Given the description of an element on the screen output the (x, y) to click on. 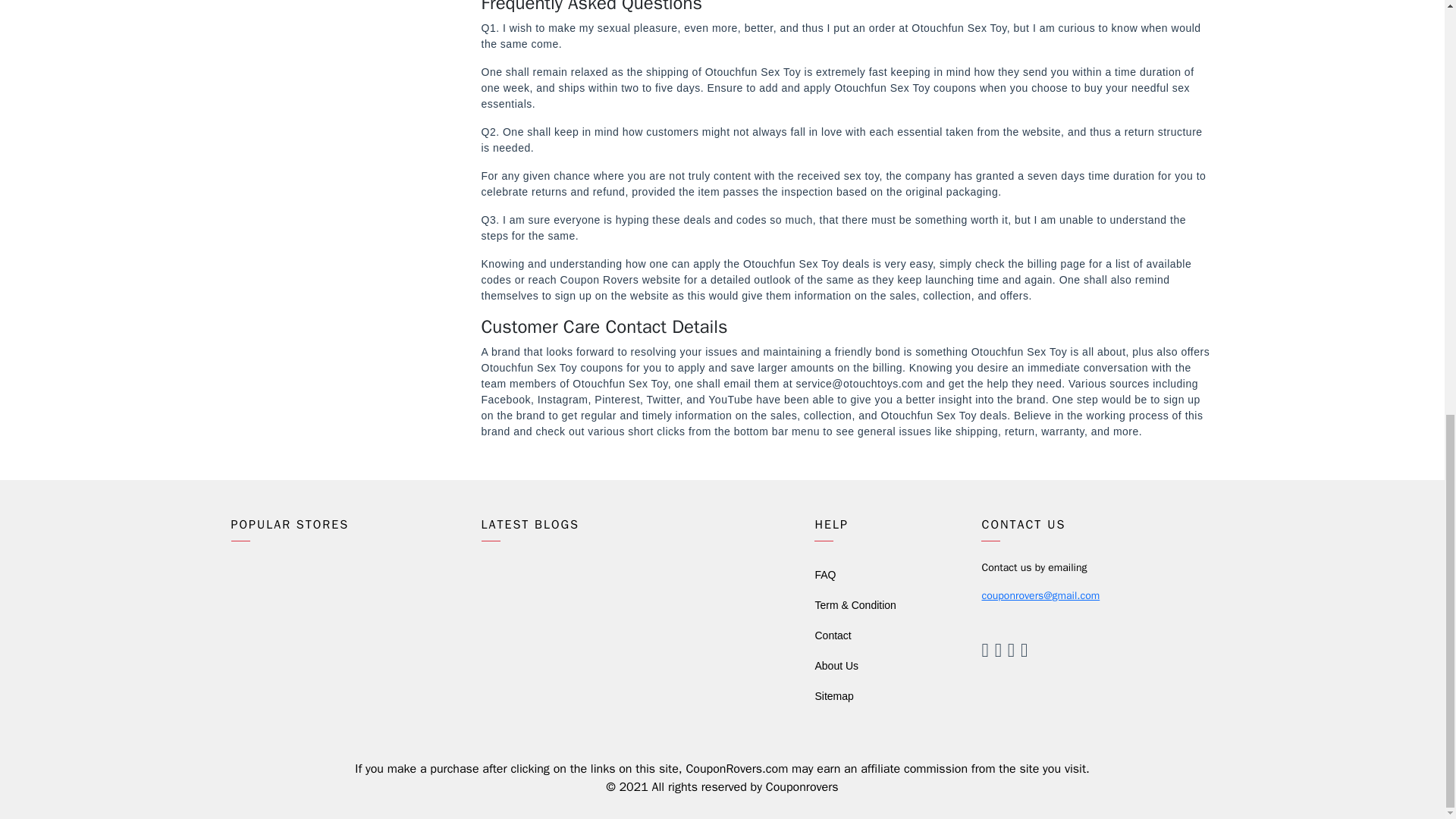
About Us (836, 665)
Contact (831, 635)
Sitemap (833, 695)
FAQ (824, 574)
